Given the description of an element on the screen output the (x, y) to click on. 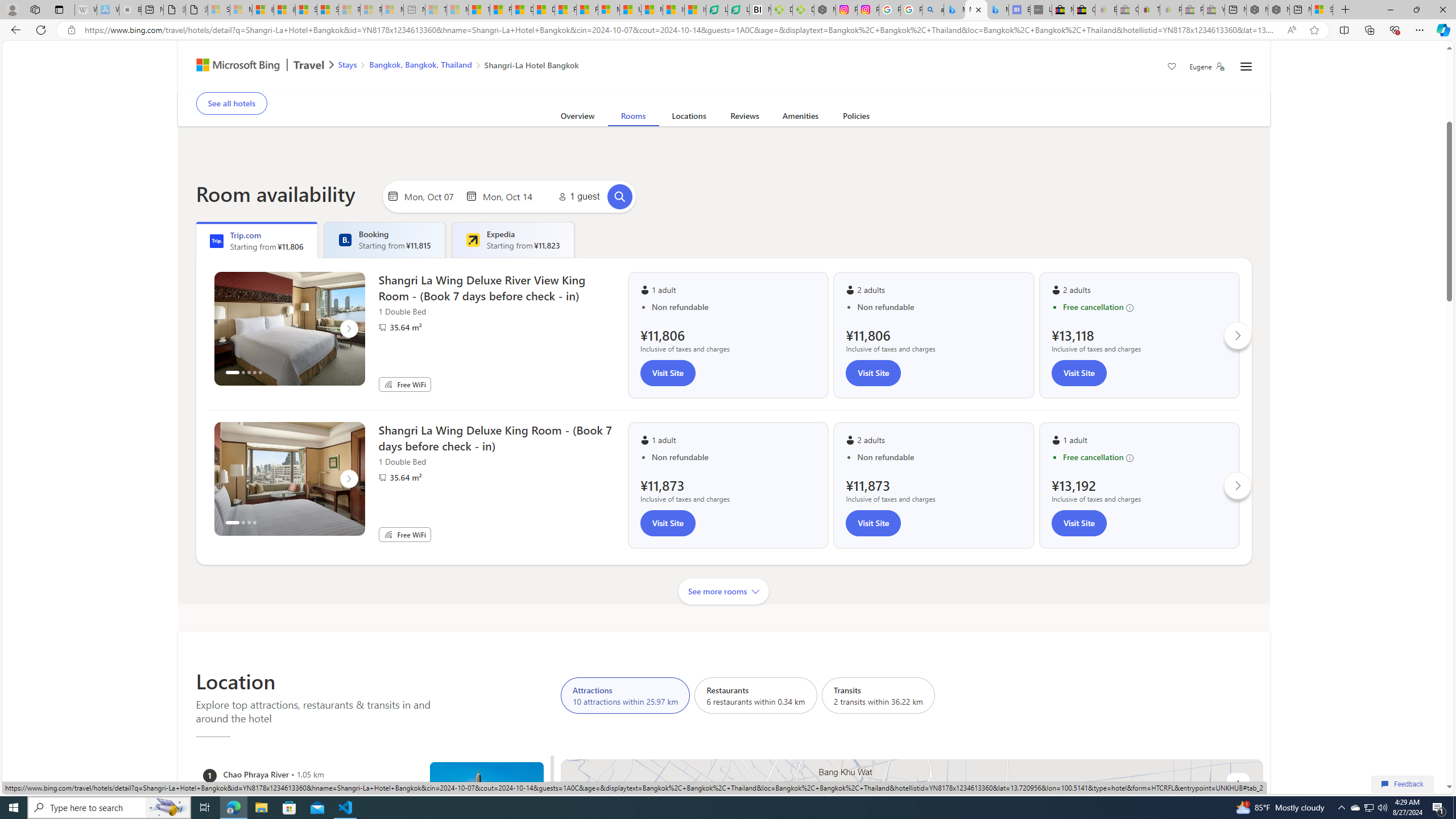
Non refundable (939, 457)
read more (814, 68)
Free parking (486, 84)
Microsoft account | Account Checkup - Sleeping (392, 9)
